Given the description of an element on the screen output the (x, y) to click on. 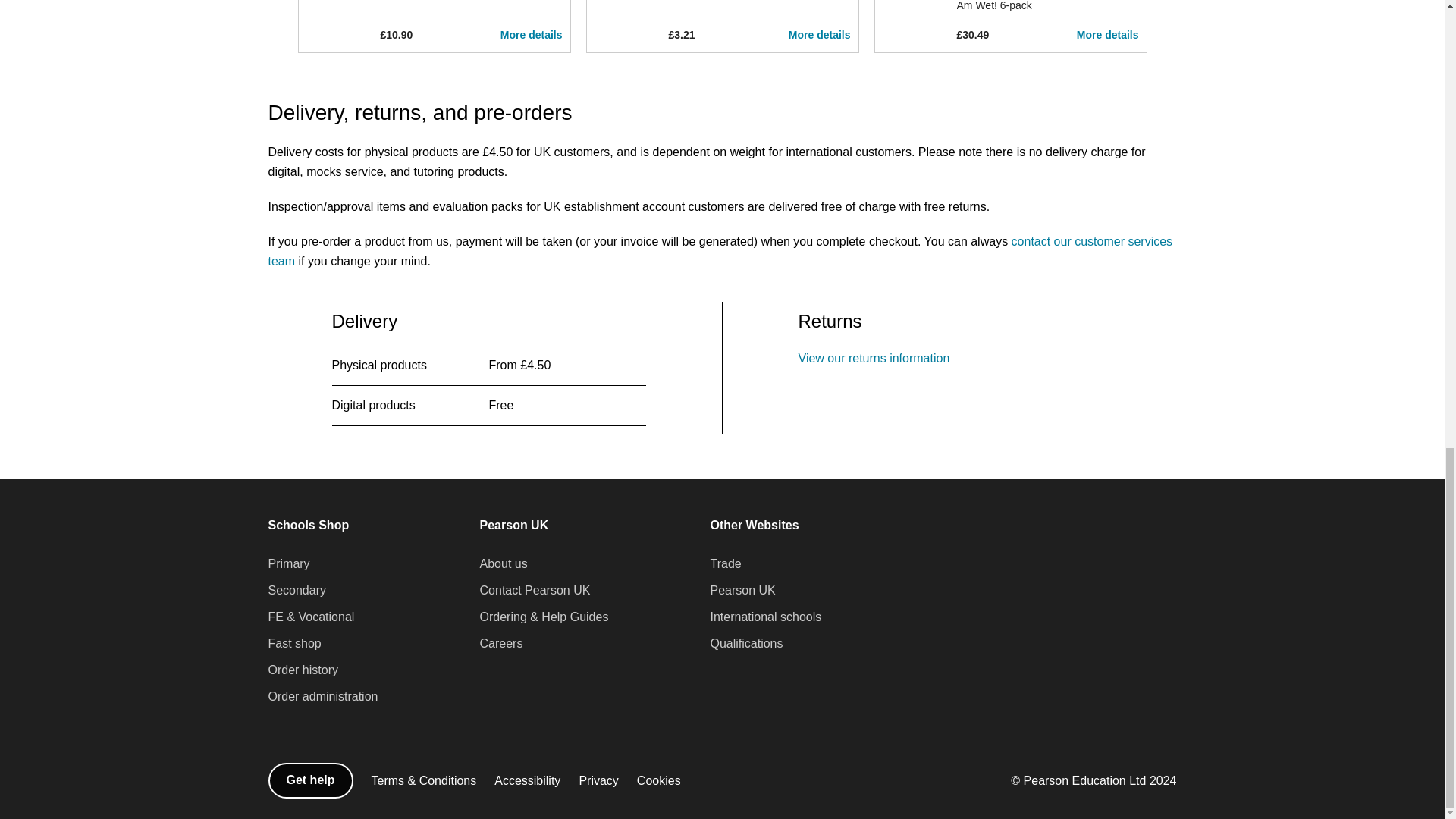
Returns (873, 358)
